Given the description of an element on the screen output the (x, y) to click on. 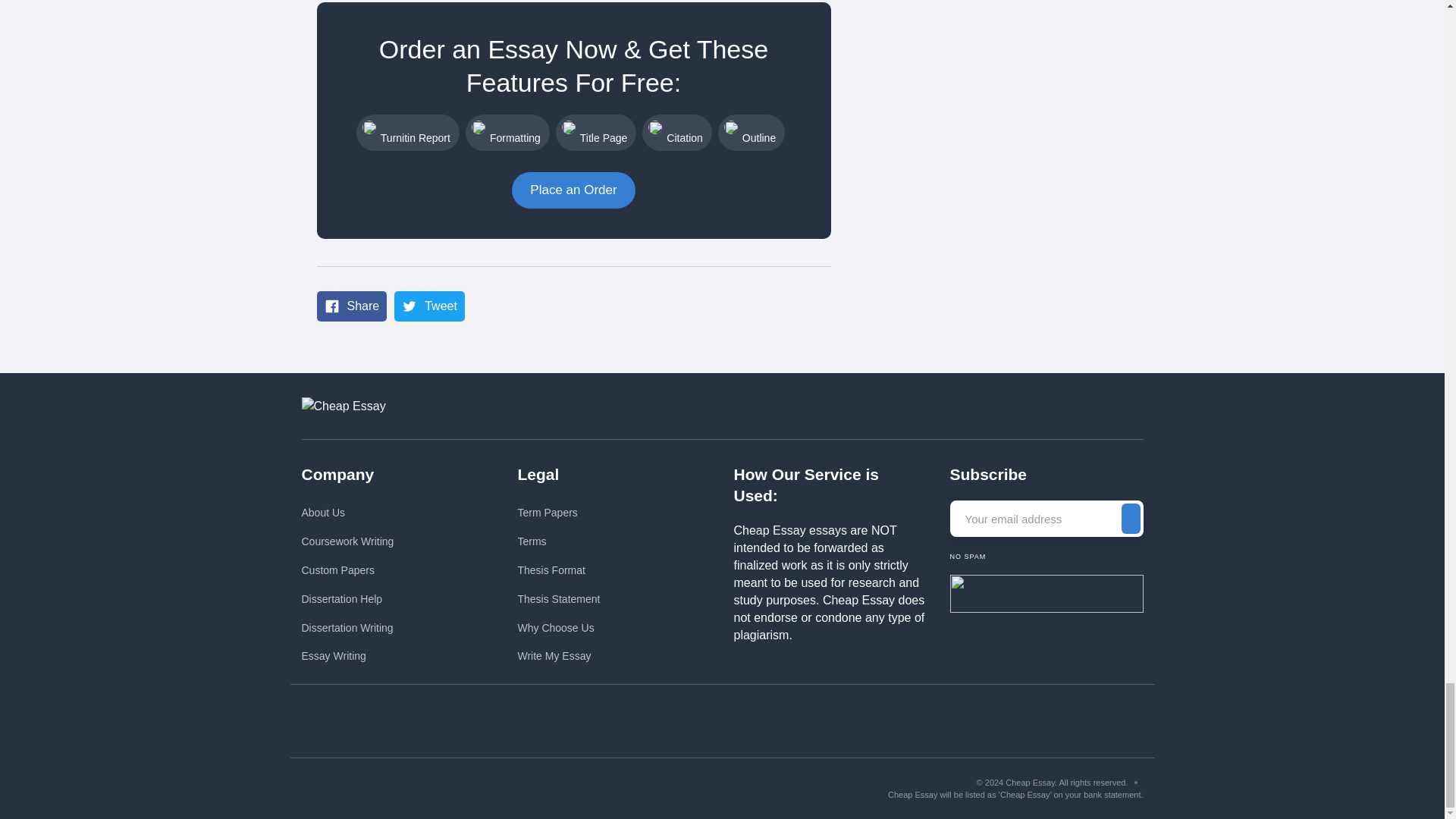
Share (352, 306)
Terms (557, 541)
Term Papers (557, 512)
Essay Writing (347, 656)
Dissertation Help (347, 599)
Custom Papers (347, 570)
Thesis Statement (557, 599)
Dissertation Writing (347, 627)
Thesis Format (557, 570)
Why Choose Us (557, 627)
